Given the description of an element on the screen output the (x, y) to click on. 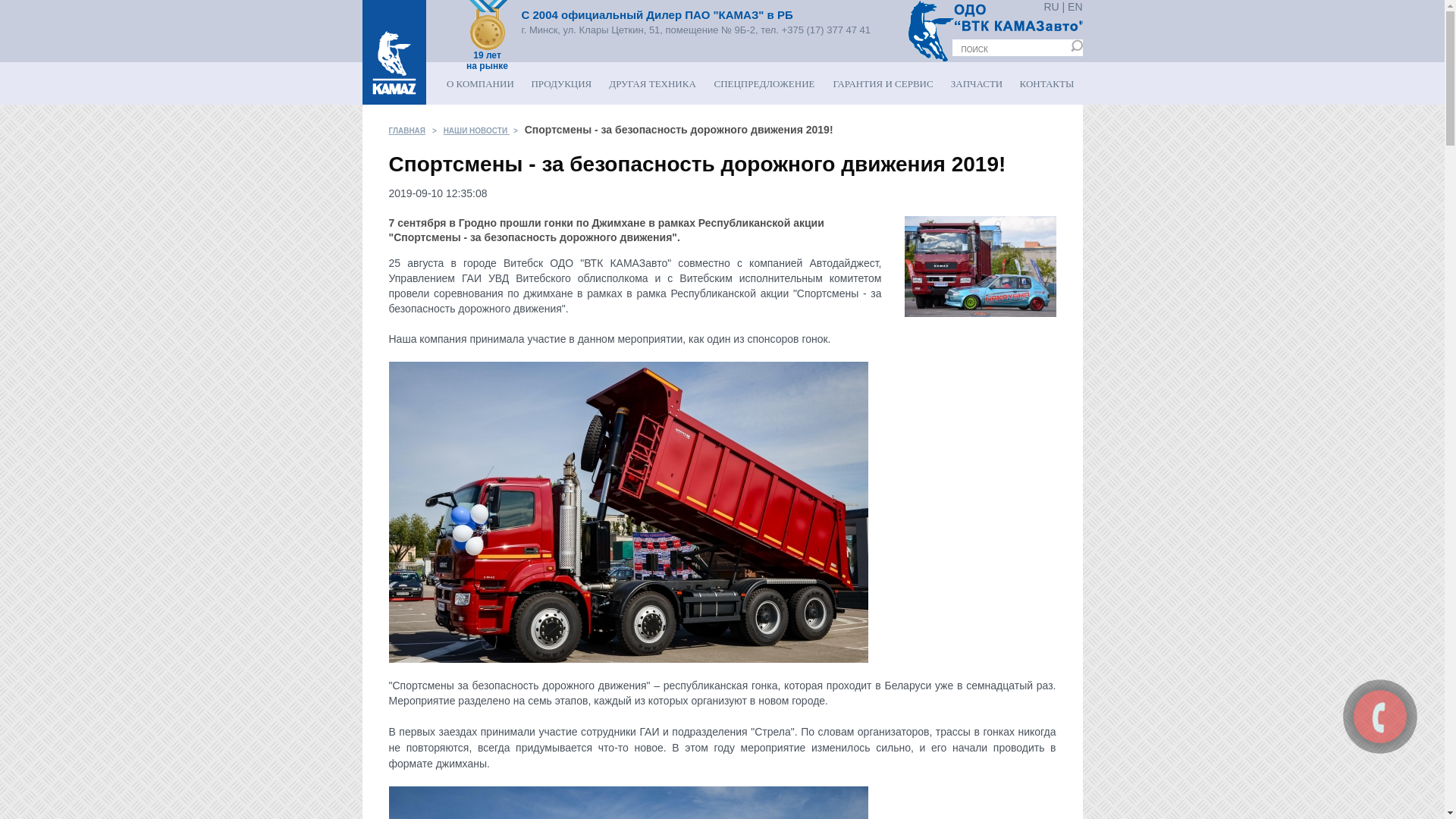
KAMAZ Element type: hover (394, 52)
EN Element type: text (1074, 6)
+375 (17) 377 47 41 Element type: text (825, 29)
KAMAZ Element type: hover (487, 25)
